Given the description of an element on the screen output the (x, y) to click on. 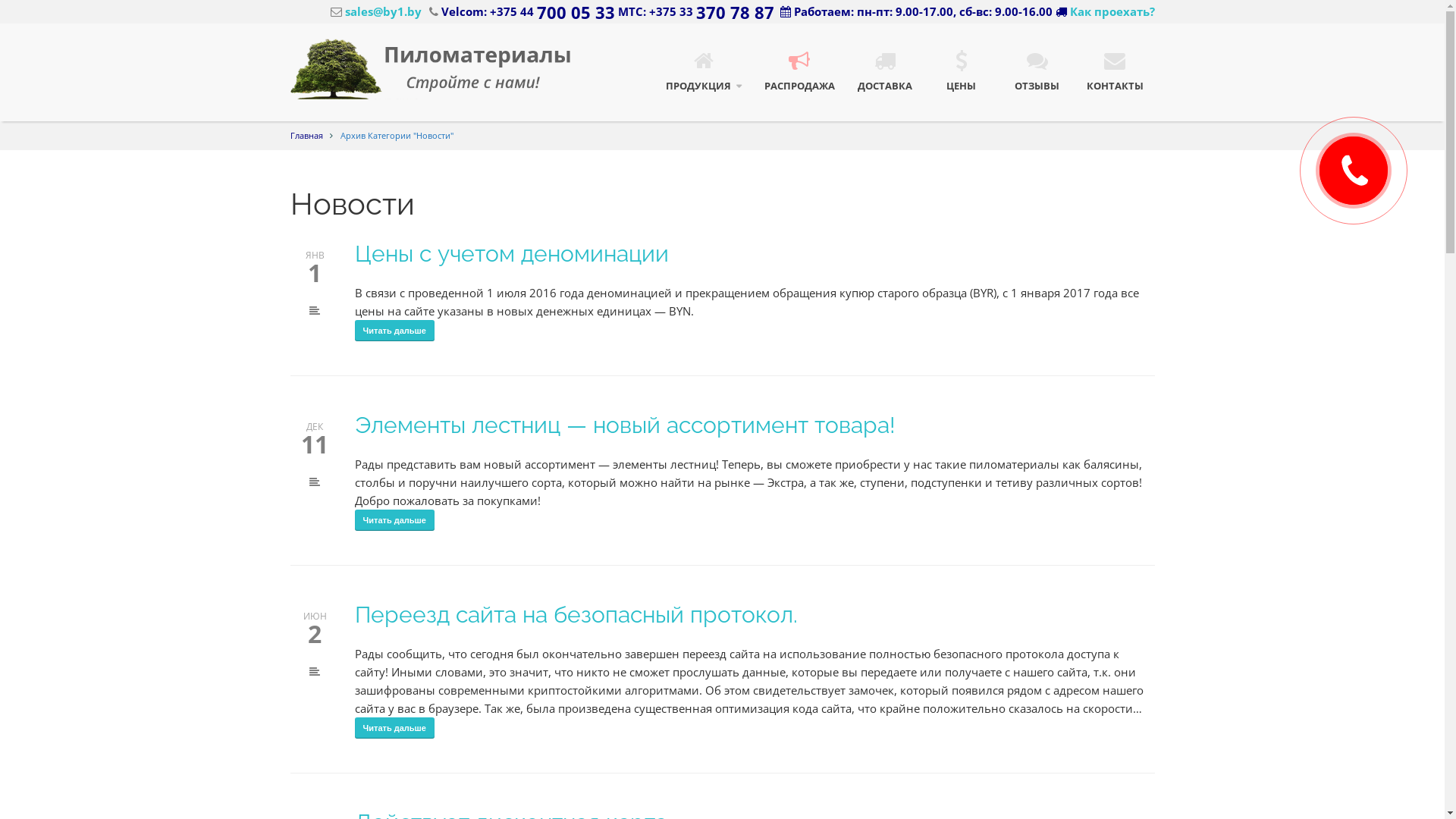
sales@by1.by Element type: text (375, 10)
